Given the description of an element on the screen output the (x, y) to click on. 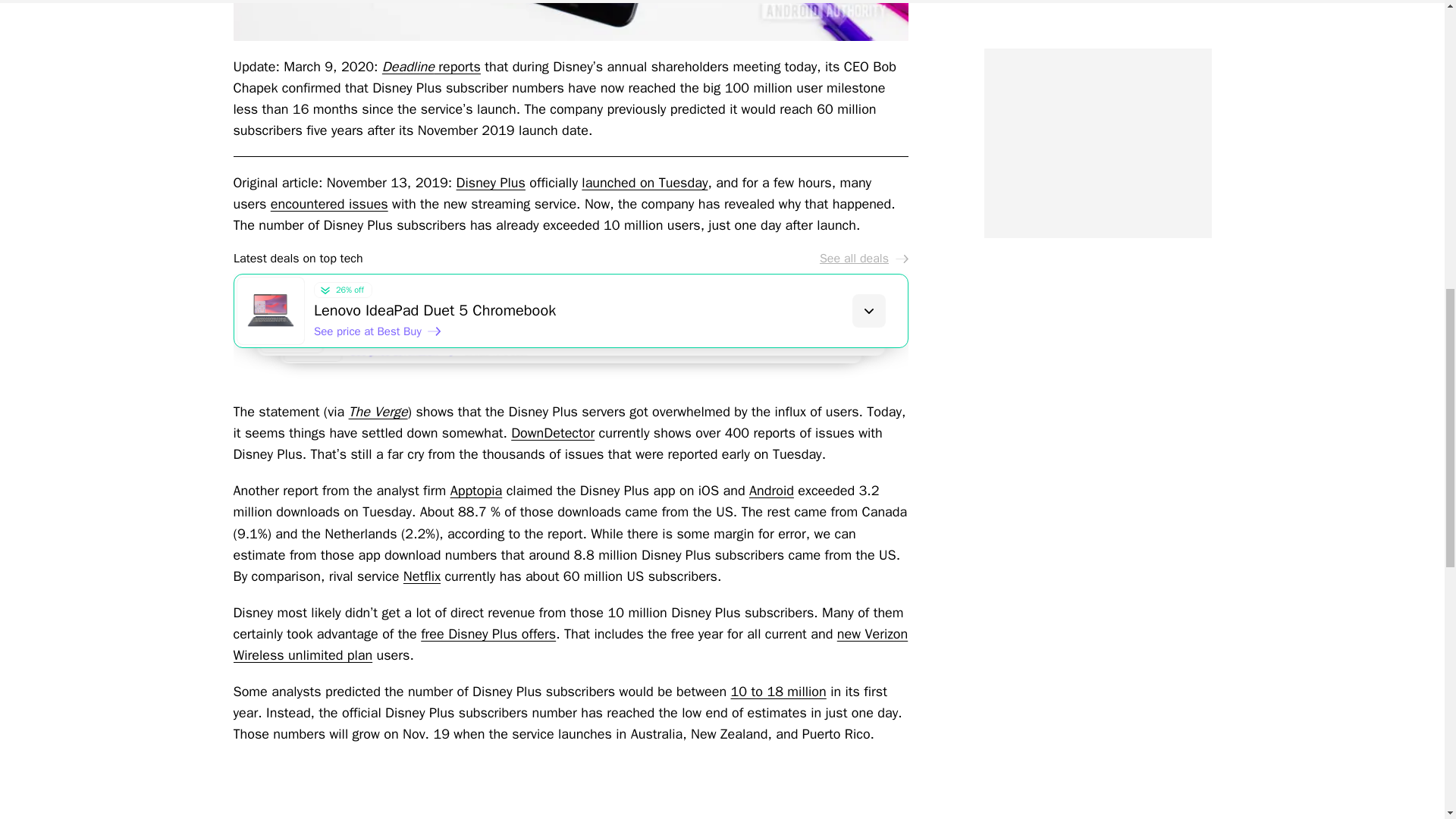
See all deals (862, 258)
See price at Best Buy (377, 331)
Disney Plus movie screen 1 (570, 20)
See price at Amazon (391, 344)
Google Pixel Buds A-Series (644, 346)
launched on Tuesday (643, 182)
Anker PowerConf C200 2K Webcam (627, 328)
Deadline reports (430, 66)
See price at Amazon (409, 356)
Disney Plus (491, 182)
encountered issues (329, 203)
Lenovo IdeaPad Duet 5 Chromebook (609, 310)
